Given the description of an element on the screen output the (x, y) to click on. 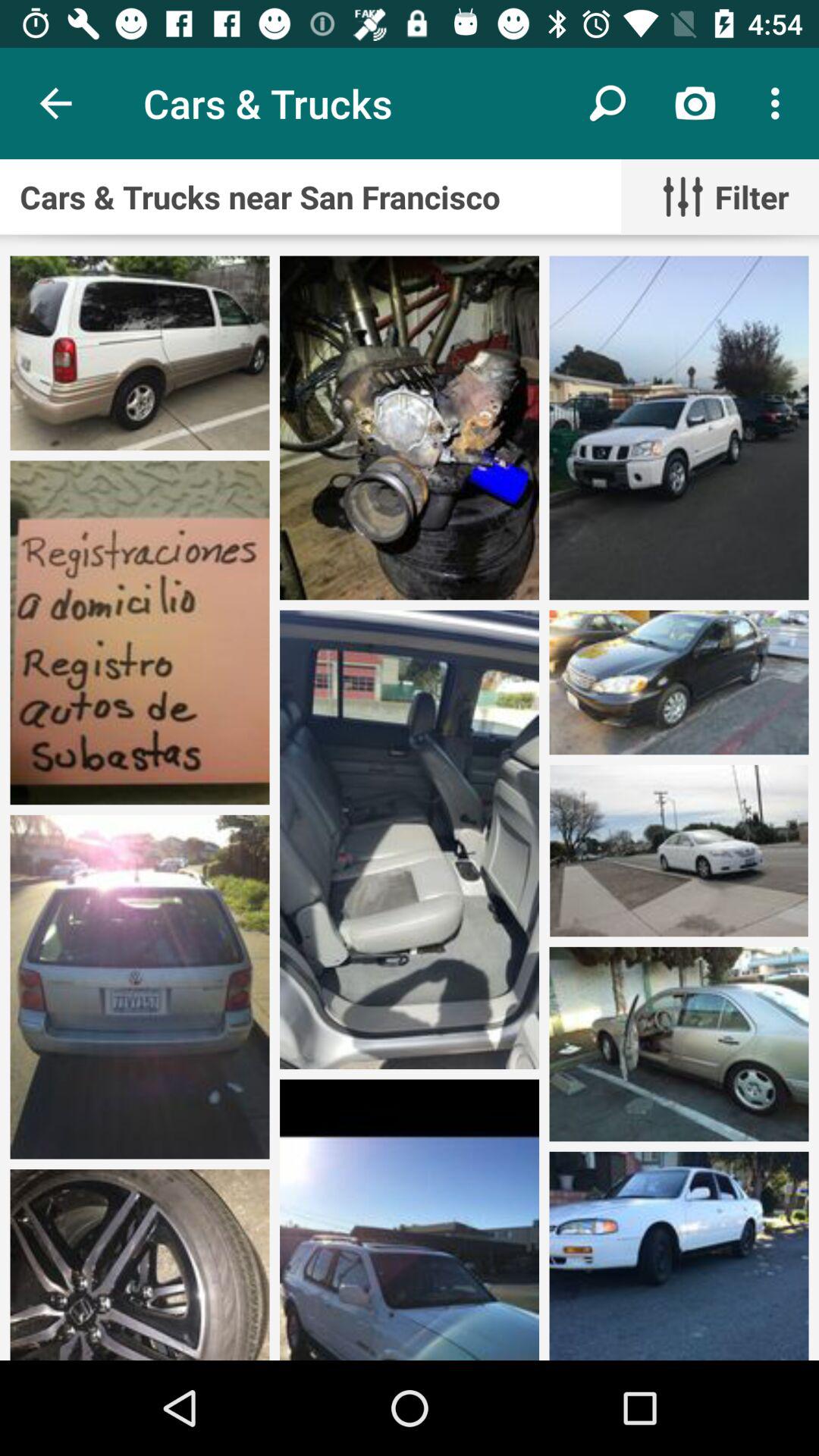
turn off the icon above cars trucks near item (695, 103)
